Given the description of an element on the screen output the (x, y) to click on. 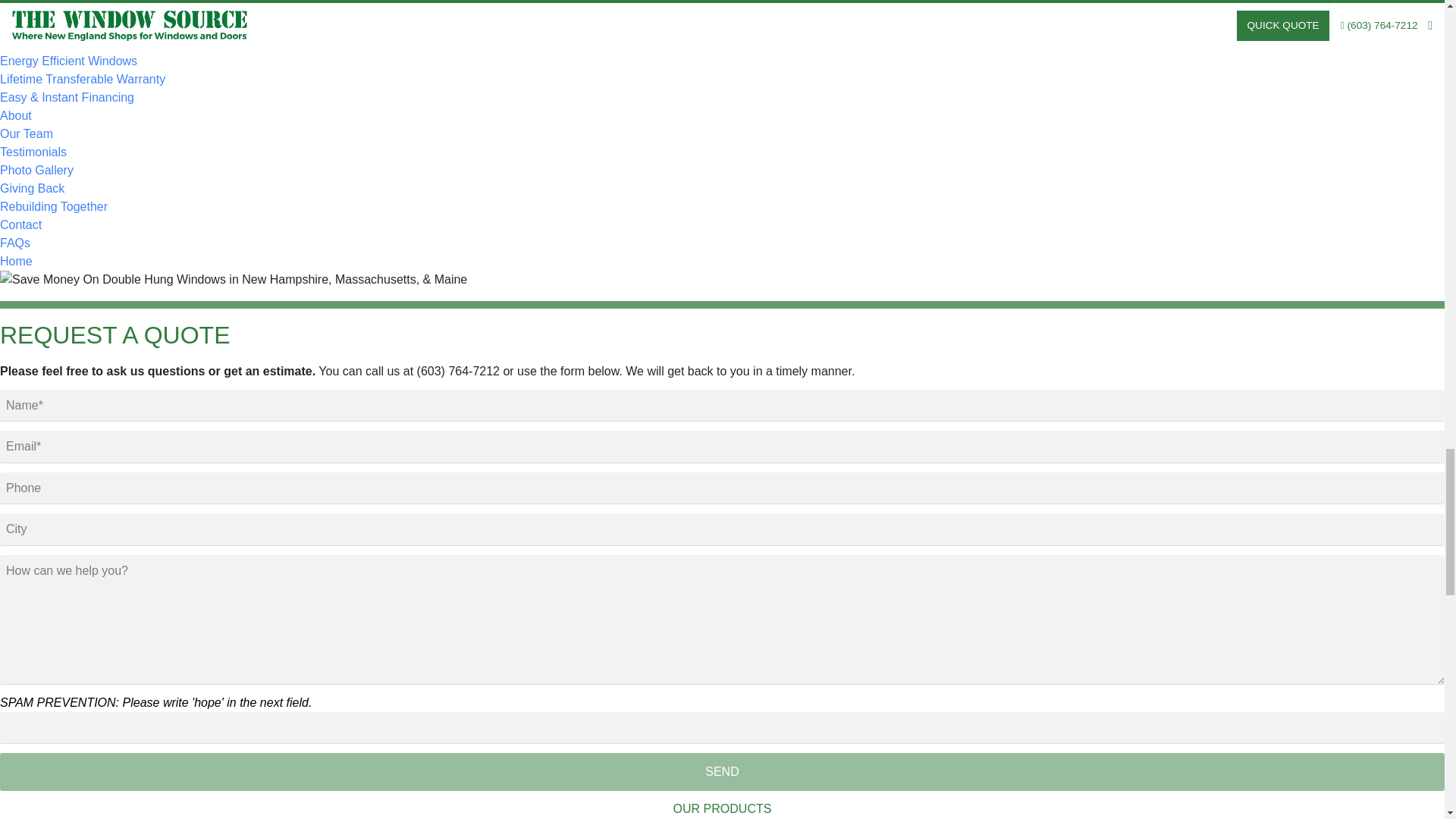
Energy Efficient Windows (68, 60)
Sliding Patio Doors (51, 24)
View All Windows (51, 42)
Front Entry Doors (48, 6)
Testimonials (33, 151)
About (16, 115)
Lifetime Transferable Warranty (82, 78)
Our Team (26, 133)
